Given the description of an element on the screen output the (x, y) to click on. 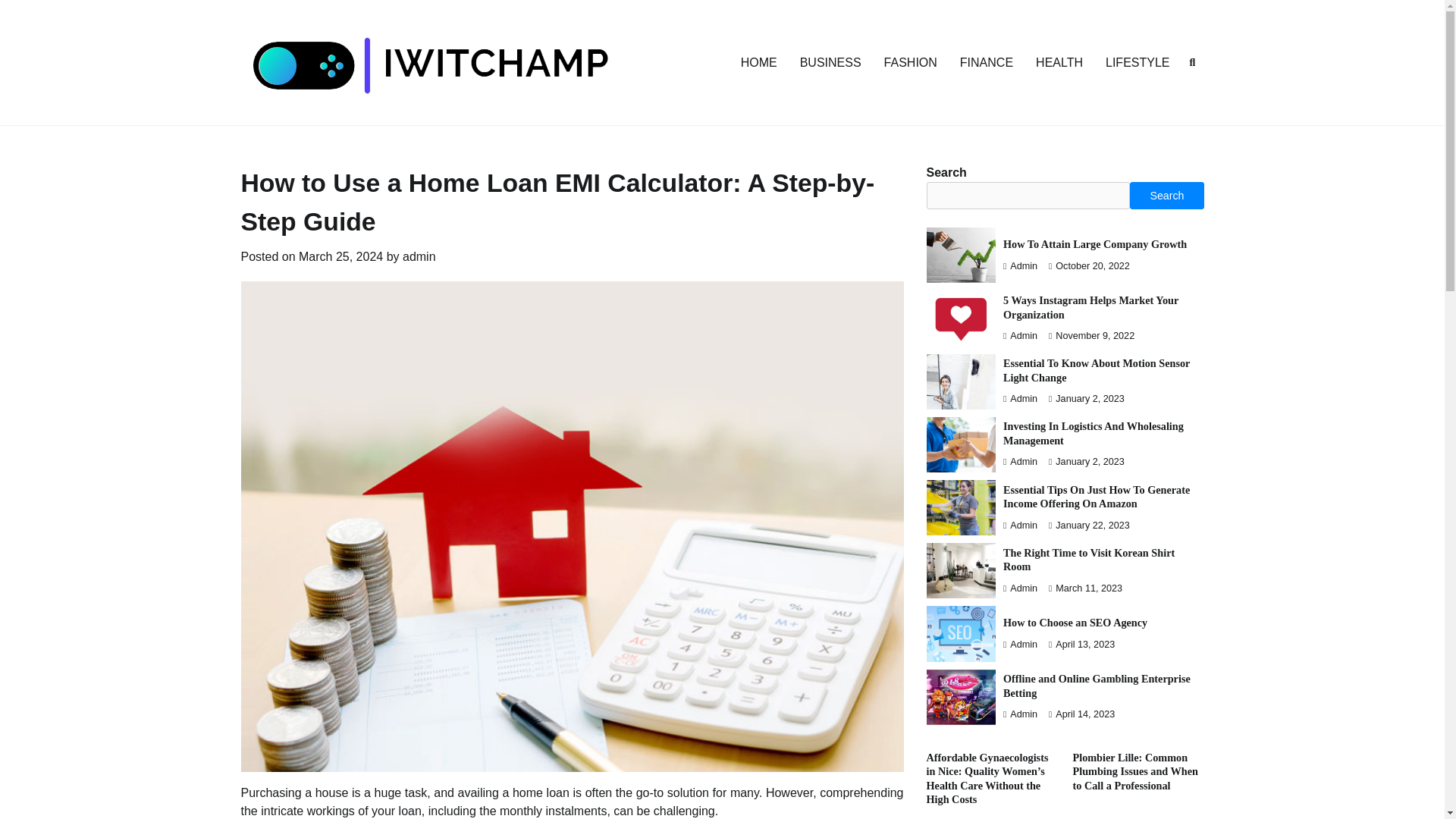
How To Attain Large Company Growth (1094, 244)
Search (1166, 195)
Search (1164, 98)
Essential To Know About Motion Sensor Light Change (1096, 370)
Investing In Logistics And Wholesaling Management (1093, 433)
HOME (759, 61)
The Right Time to Visit Korean Shirt Room (1088, 560)
Admin (1019, 461)
How to Choose an SEO Agency (1075, 622)
admin (419, 256)
